Given the description of an element on the screen output the (x, y) to click on. 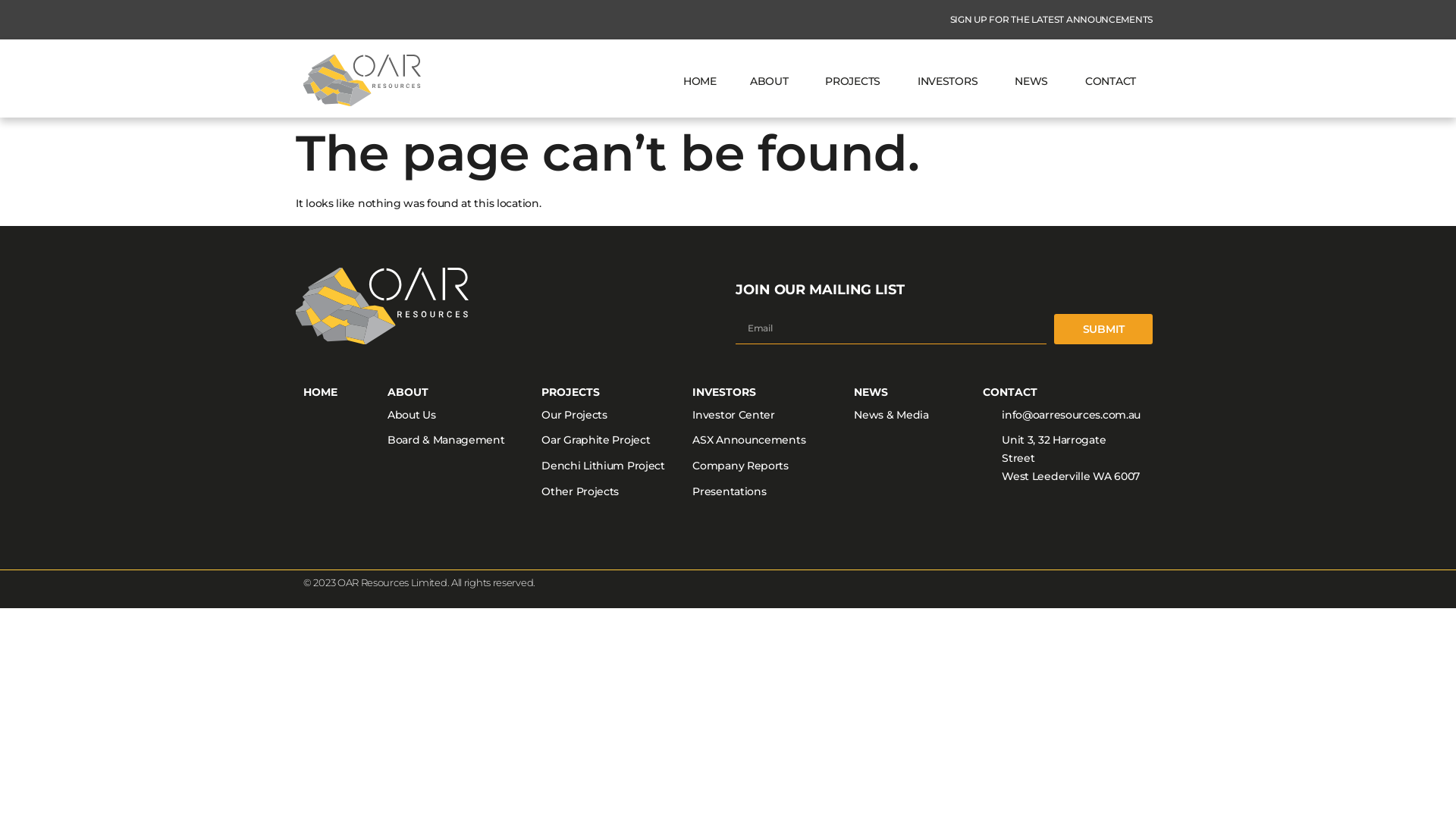
ASX Announcements Element type: text (765, 440)
CONTACT Element type: text (1110, 80)
Other Projects Element type: text (609, 492)
Board & Management Element type: text (463, 440)
Company Reports Element type: text (765, 466)
JOIN OUR MAILING LIST Element type: text (819, 289)
Oar Graphite Project Element type: text (609, 440)
PROJECTS Element type: text (854, 80)
ABOUT Element type: text (771, 80)
NEWS Element type: text (870, 391)
NEWS Element type: text (1032, 80)
News & Media Element type: text (910, 415)
SIGN UP FOR THE LATEST ANNOUNCEMENTS Element type: text (1041, 19)
HOME Element type: text (699, 80)
INVESTORS Element type: text (723, 391)
Investor Center Element type: text (765, 415)
Denchi Lithium Project Element type: text (609, 466)
About Us Element type: text (463, 415)
ABOUT Element type: text (407, 391)
PROJECTS Element type: text (570, 391)
HOME Element type: text (320, 391)
info@oarresources.com.au Element type: text (1061, 415)
CONTACT Element type: text (1009, 391)
SUBMIT Element type: text (1103, 328)
INVESTORS Element type: text (948, 80)
Presentations Element type: text (765, 492)
Our Projects Element type: text (609, 415)
